Given the description of an element on the screen output the (x, y) to click on. 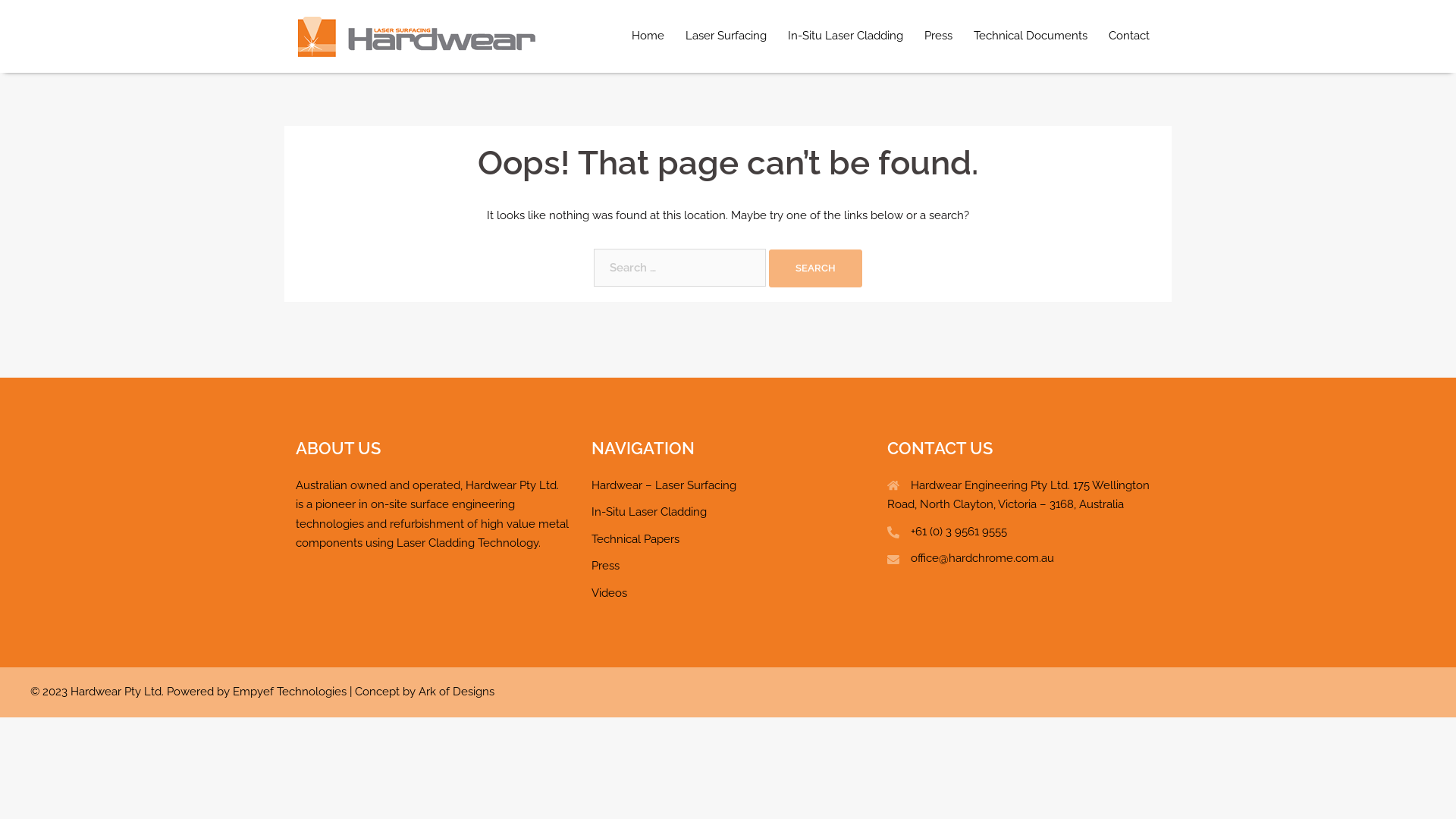
In-Situ Laser Cladding Element type: text (648, 511)
Press Element type: text (938, 36)
Videos Element type: text (609, 592)
Home Element type: text (647, 36)
In-Situ Laser Cladding Element type: text (845, 36)
Hardwear Element type: hover (417, 35)
Laser Surfacing Element type: text (725, 36)
Technical Papers Element type: text (635, 539)
office@hardchrome.com.au Element type: text (982, 557)
Contact Element type: text (1128, 36)
Search Element type: text (815, 268)
Press Element type: text (605, 565)
Empyef Technologies Element type: text (289, 691)
Technical Documents Element type: text (1030, 36)
